Given the description of an element on the screen output the (x, y) to click on. 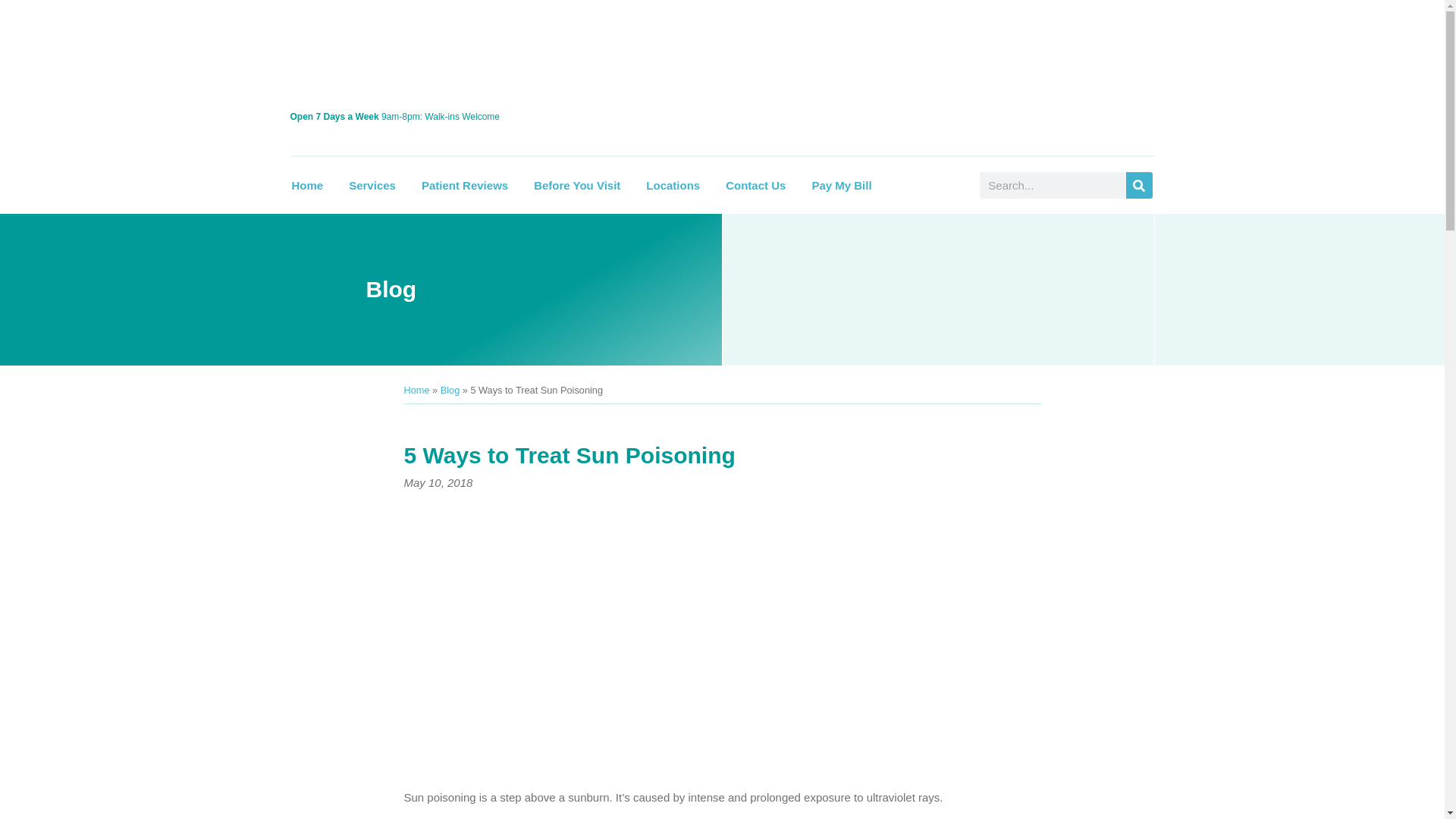
Services (372, 185)
Patient Reviews (464, 185)
Before You Visit (576, 185)
Pay My Bill (840, 185)
Home (306, 185)
Locations (673, 185)
Contact Us (755, 185)
